Given the description of an element on the screen output the (x, y) to click on. 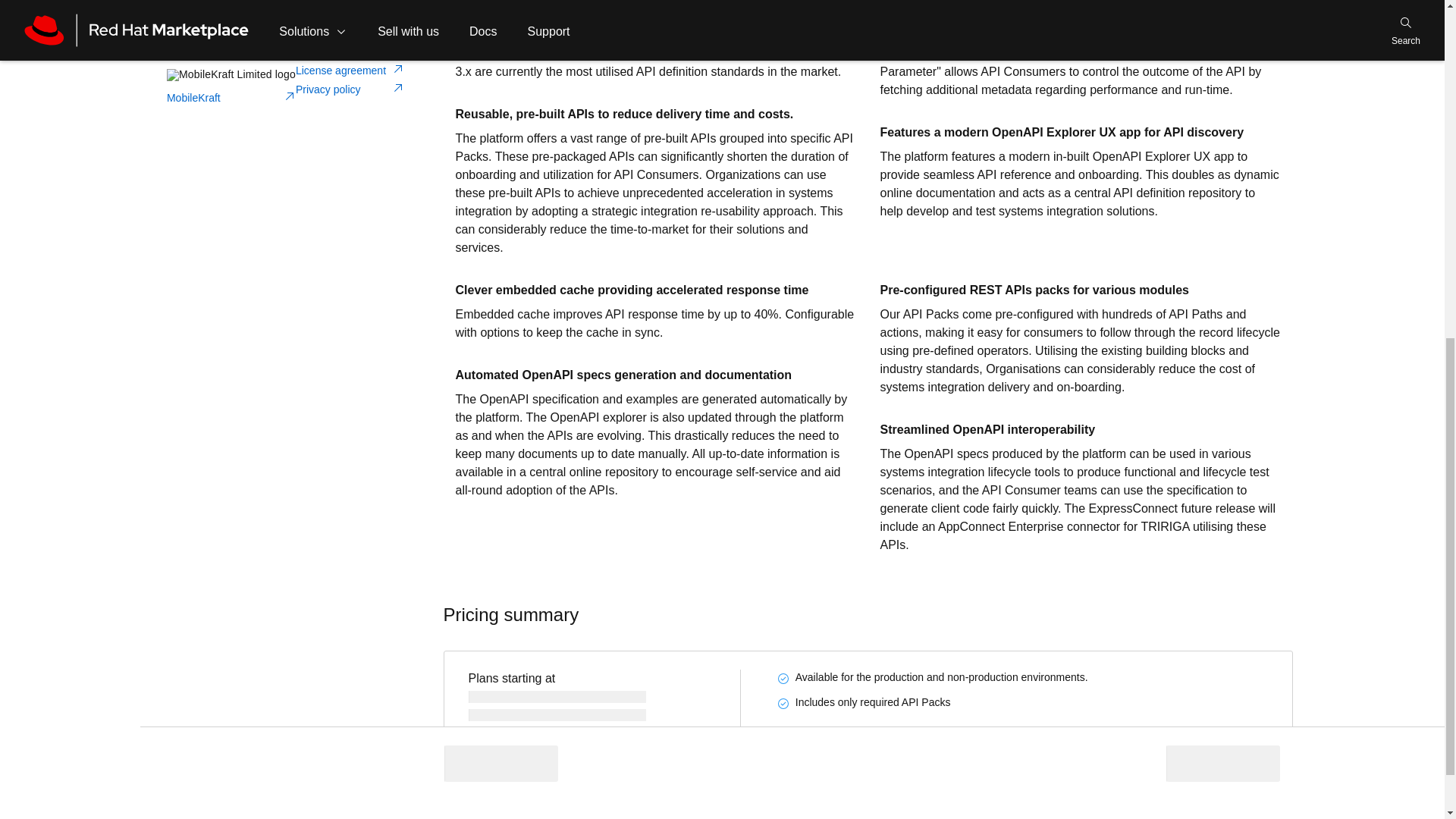
License agreement (349, 70)
Built with IBM (319, 6)
Privacy policy (349, 89)
Built with IBM (334, 8)
MobileKraft (231, 98)
View all pricing options (544, 748)
